Given the description of an element on the screen output the (x, y) to click on. 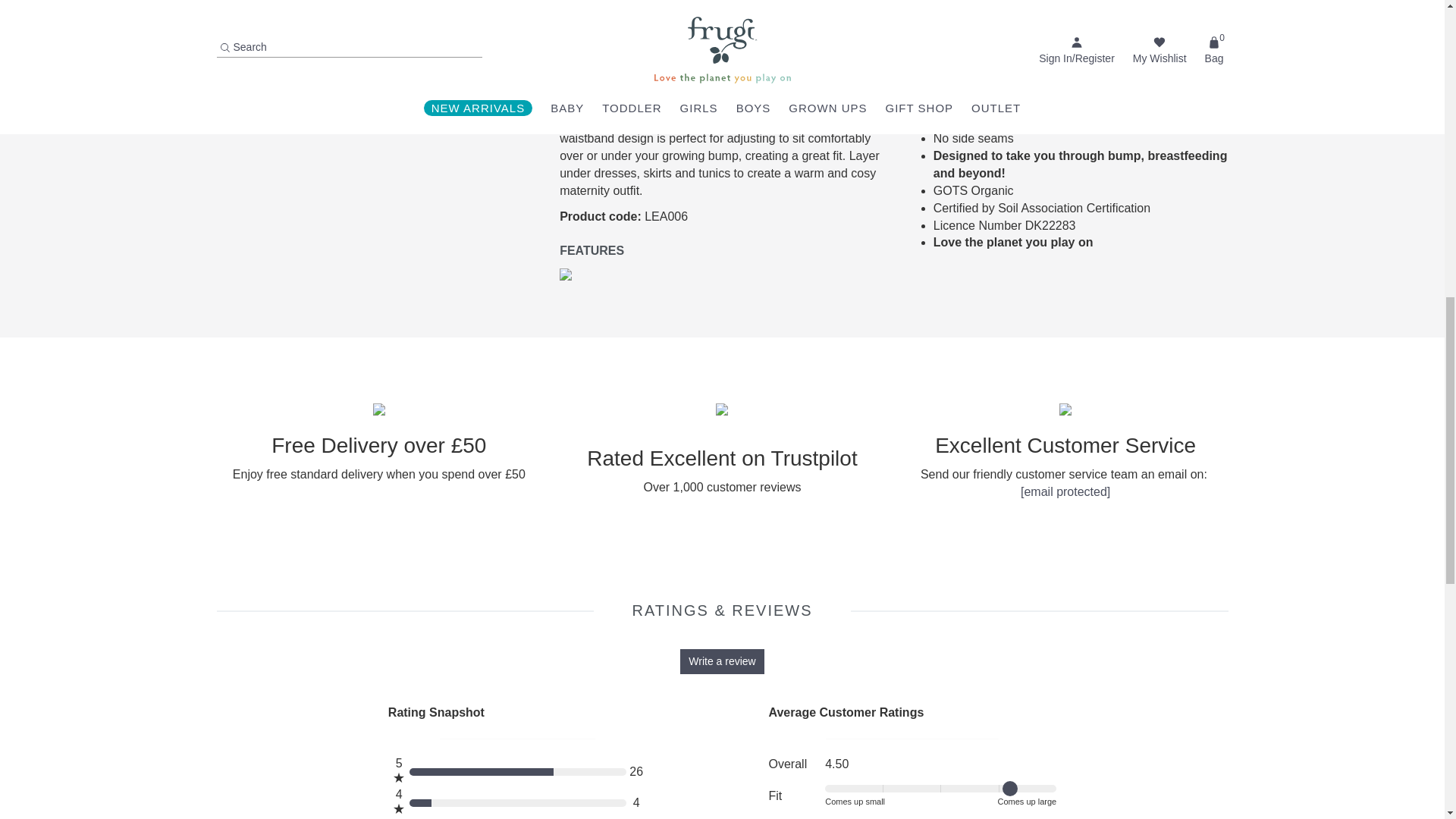
Show reviews with 4 stars (517, 802)
Show reviews with 5 stars (517, 771)
